Given the description of an element on the screen output the (x, y) to click on. 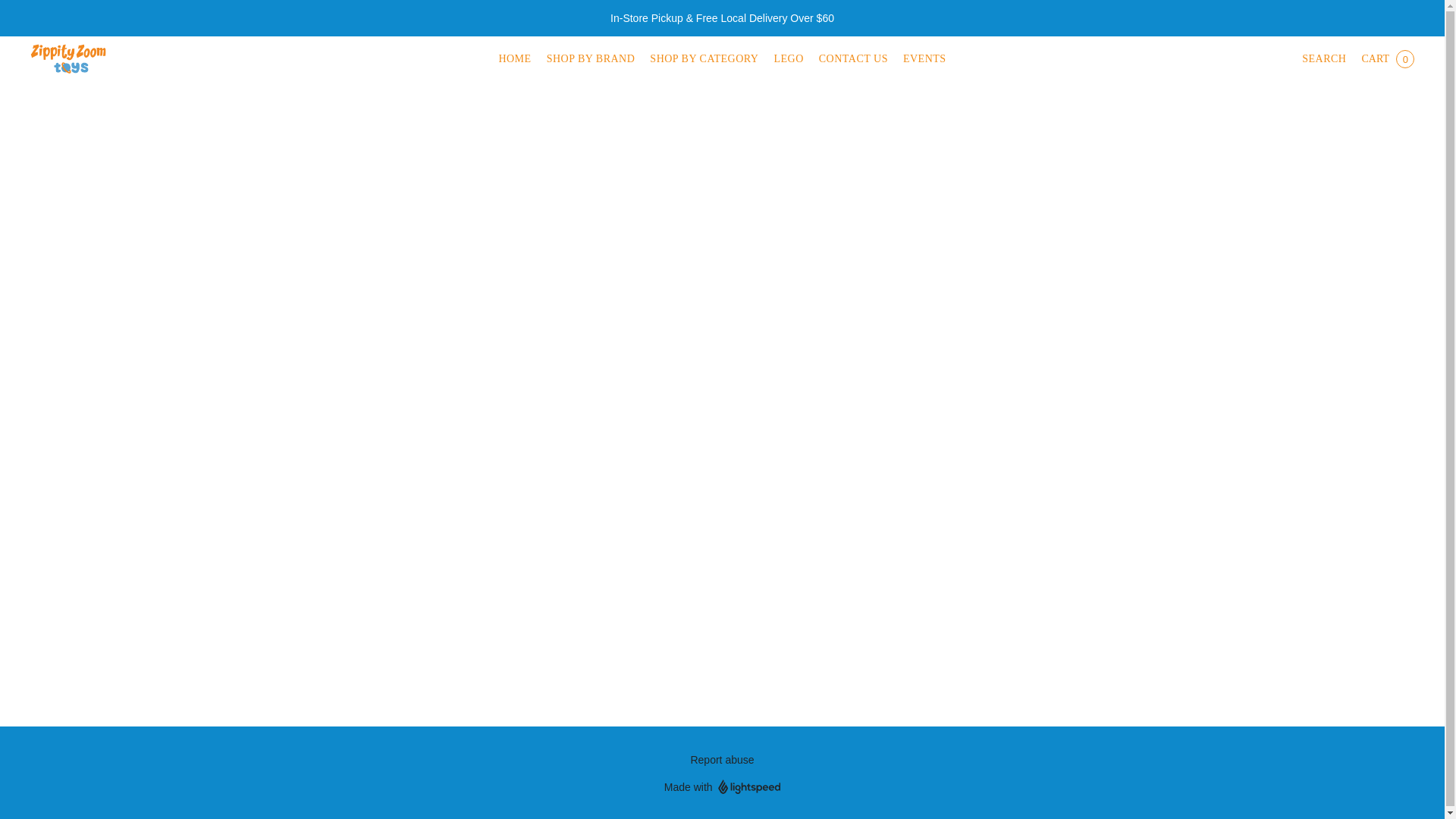
Made with (721, 787)
CONTACT US (852, 59)
Report abuse (722, 760)
SEARCH (1323, 59)
SHOP BY BRAND (590, 59)
HOME (517, 59)
Go to your shopping cart (1387, 59)
CART (1387, 59)
EVENTS (920, 59)
Search the website (1323, 59)
